Given the description of an element on the screen output the (x, y) to click on. 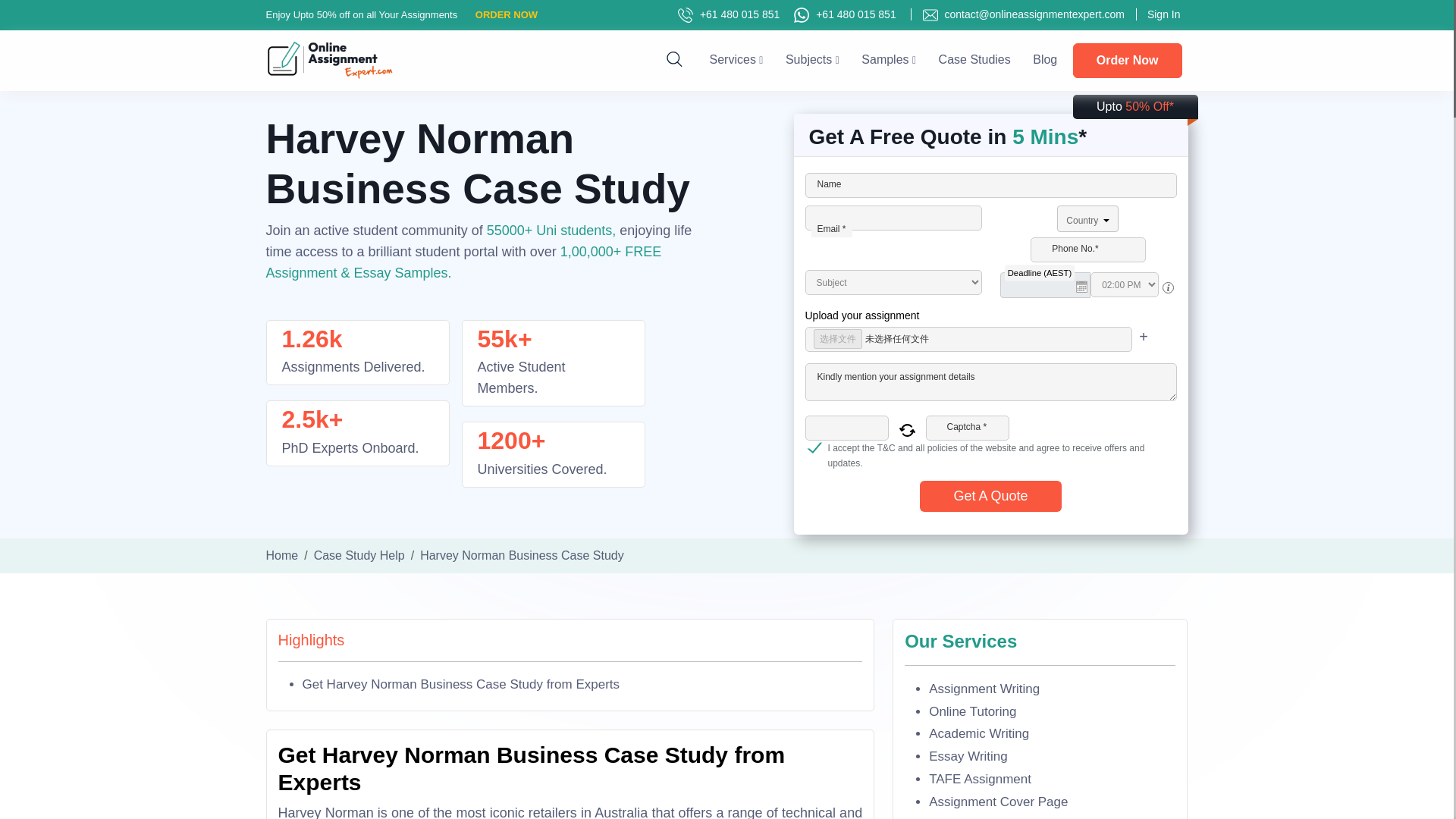
Get Harvey Norman Business Case Study from Experts (460, 684)
Services (736, 59)
Sign In (1157, 14)
Get Harvey Norman Business Case Study from Experts (460, 684)
Subjects (813, 59)
